Given the description of an element on the screen output the (x, y) to click on. 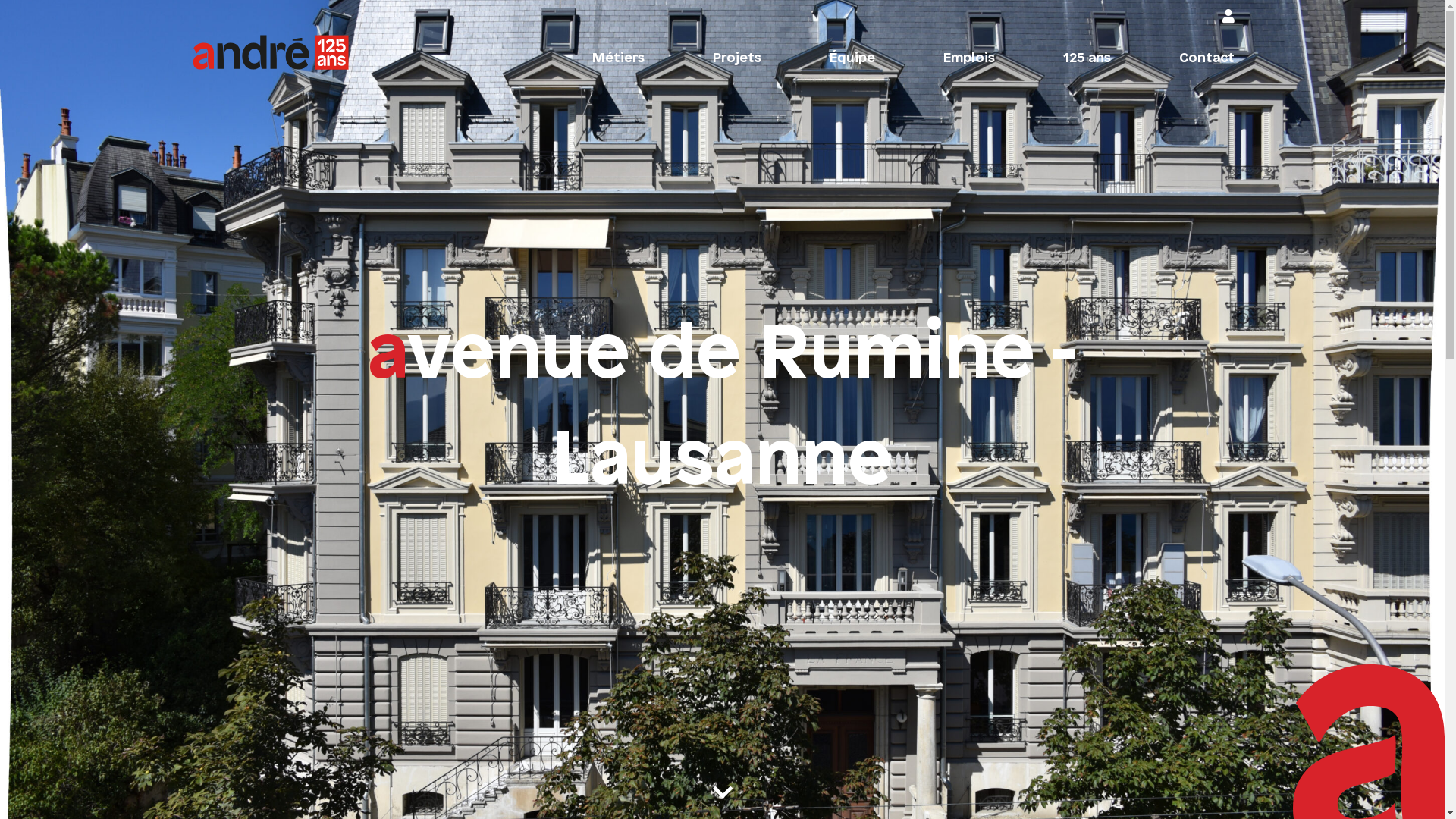
Contact Element type: text (1205, 58)
125 ans Element type: text (1086, 58)
Emplois Element type: text (968, 58)
Projets Element type: text (737, 58)
